Given the description of an element on the screen output the (x, y) to click on. 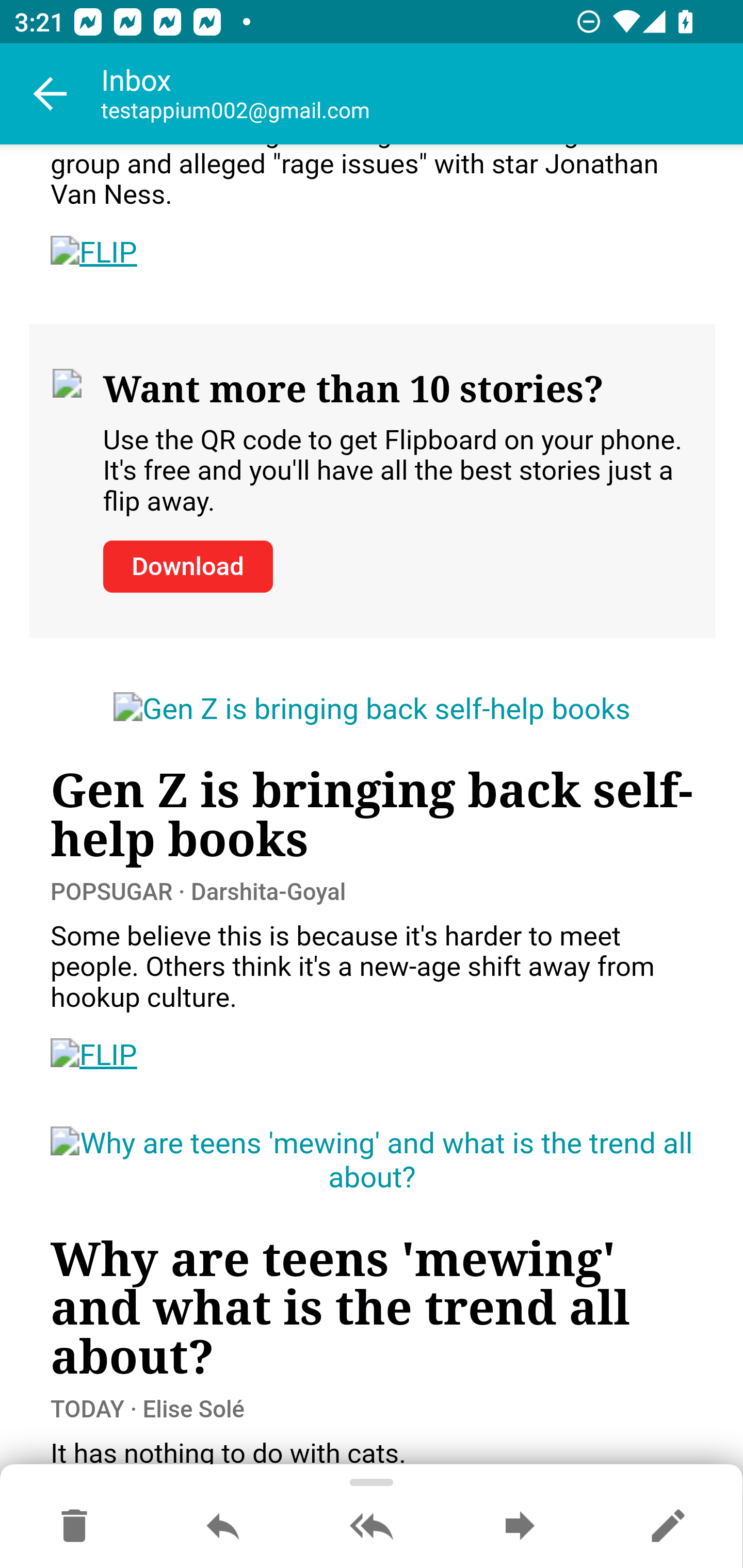
Navigate up (50, 93)
Inbox testappium002@gmail.com (422, 93)
FLIP (93, 253)
Download (187, 566)
FLIP (93, 1056)
Move to Deleted (74, 1527)
Reply (222, 1527)
Reply all (371, 1527)
Forward (519, 1527)
Reply as new (667, 1527)
